Given the description of an element on the screen output the (x, y) to click on. 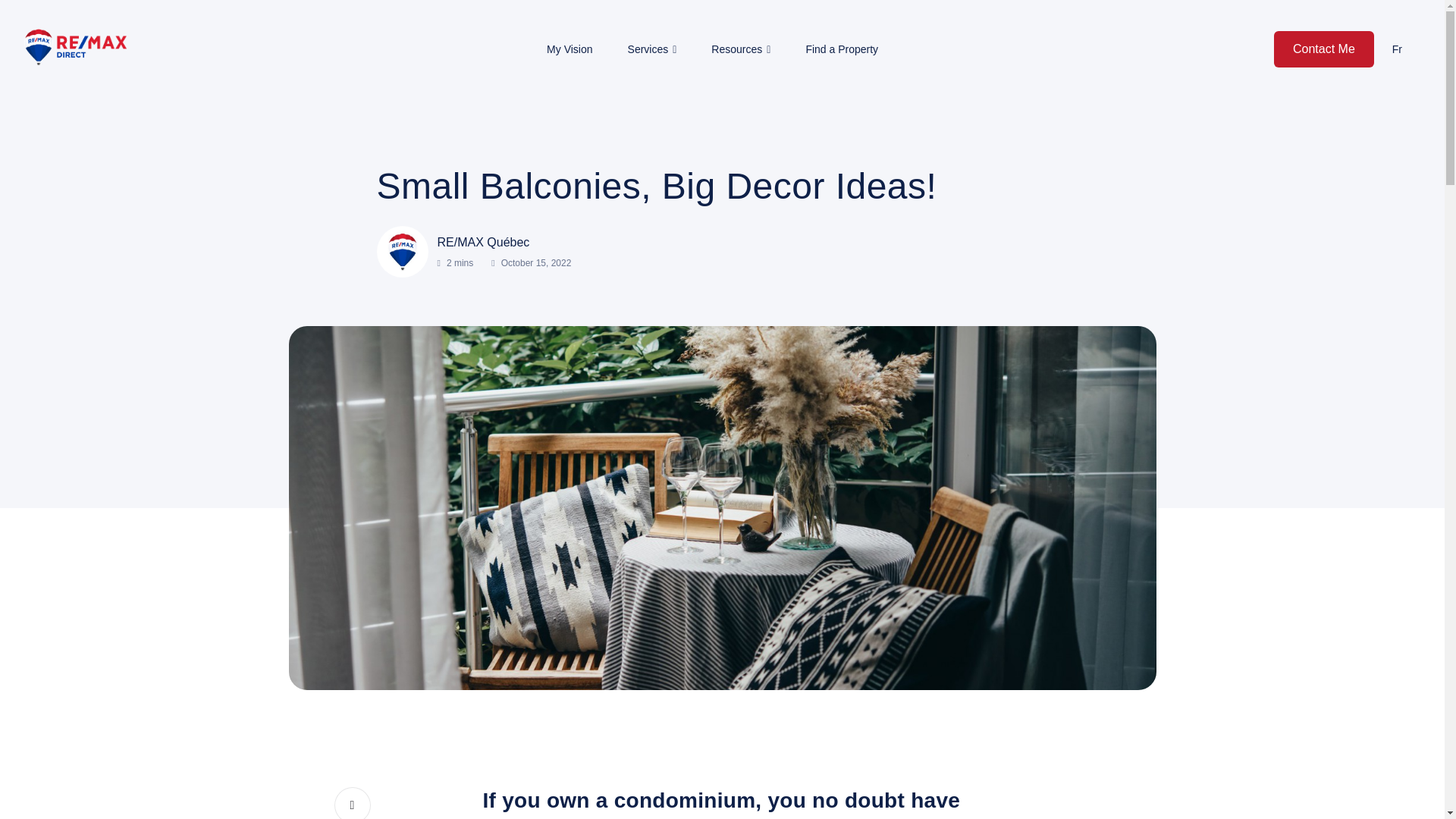
Contact Me (1324, 49)
Find a Property (841, 48)
My Vision (569, 48)
